Given the description of an element on the screen output the (x, y) to click on. 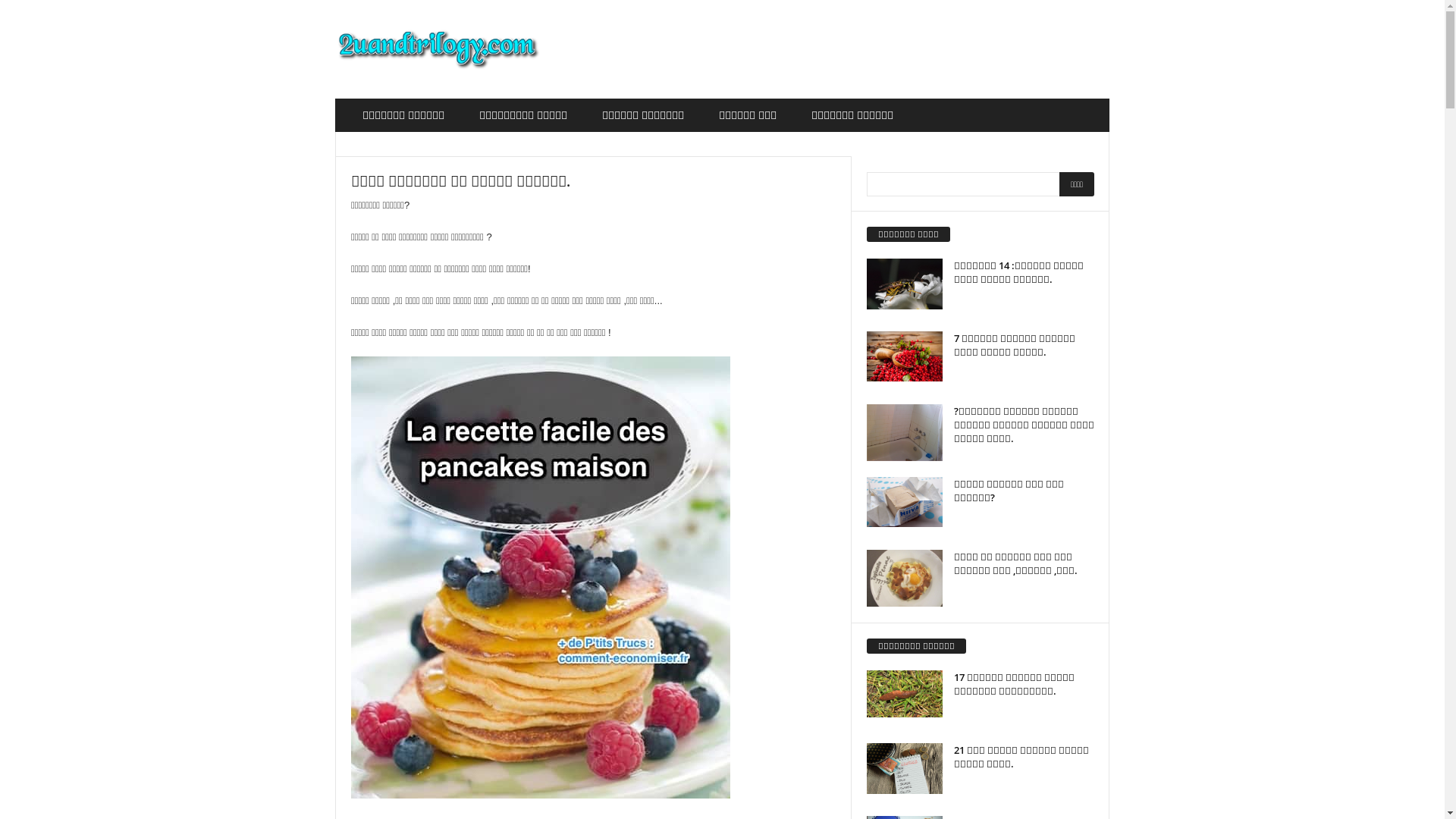
2uandtrilogy.com Element type: text (438, 49)
